Given the description of an element on the screen output the (x, y) to click on. 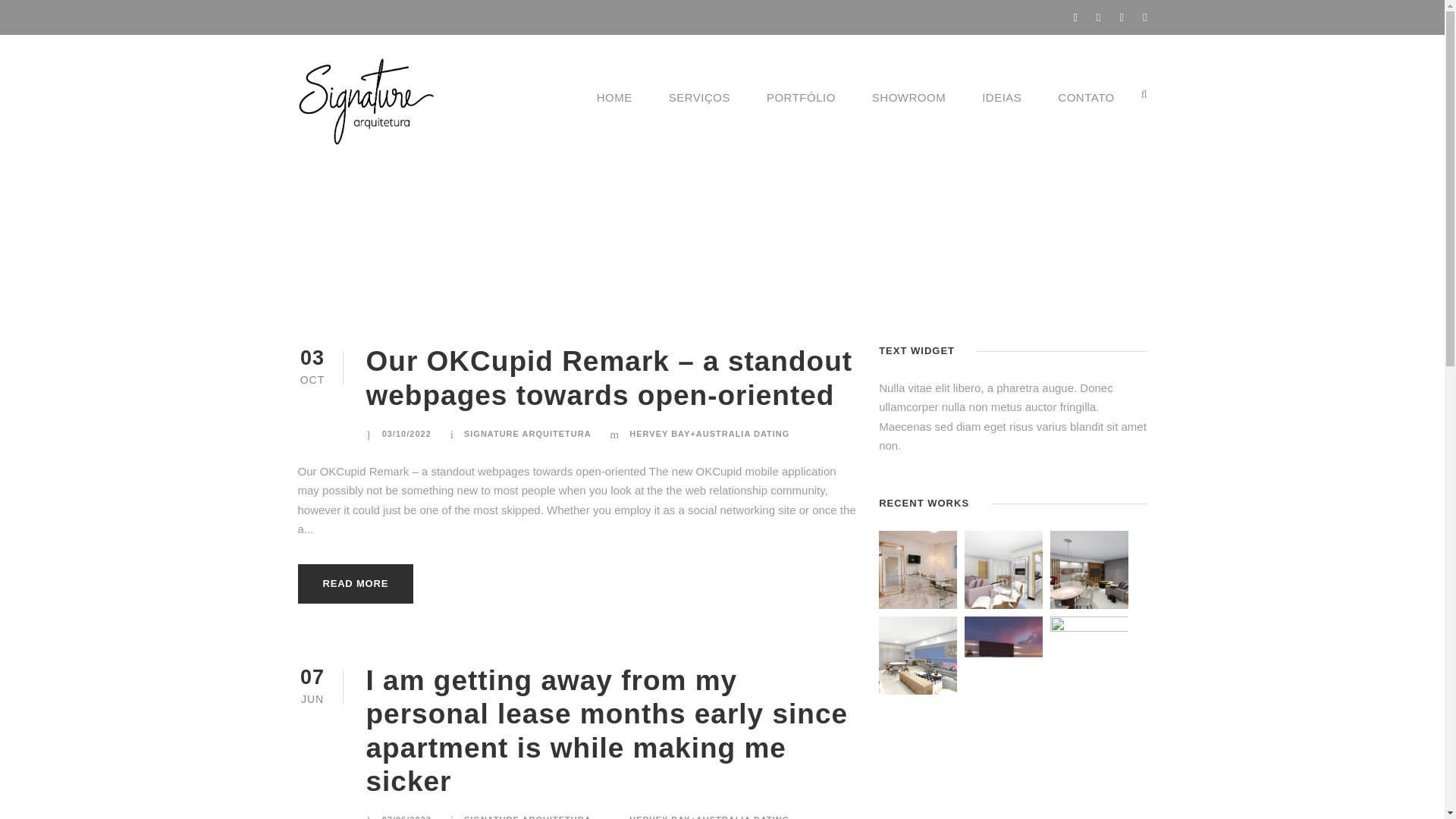
SIGNATURE ARQUITETURA (527, 433)
IDEIAS (1001, 107)
SHOWROOM (908, 107)
Posts by Signature Arquitetura (527, 433)
Posts by Signature Arquitetura (527, 816)
CONTATO (1085, 107)
READ MORE (355, 583)
SIGNATURE ARQUITETURA (527, 816)
